Given the description of an element on the screen output the (x, y) to click on. 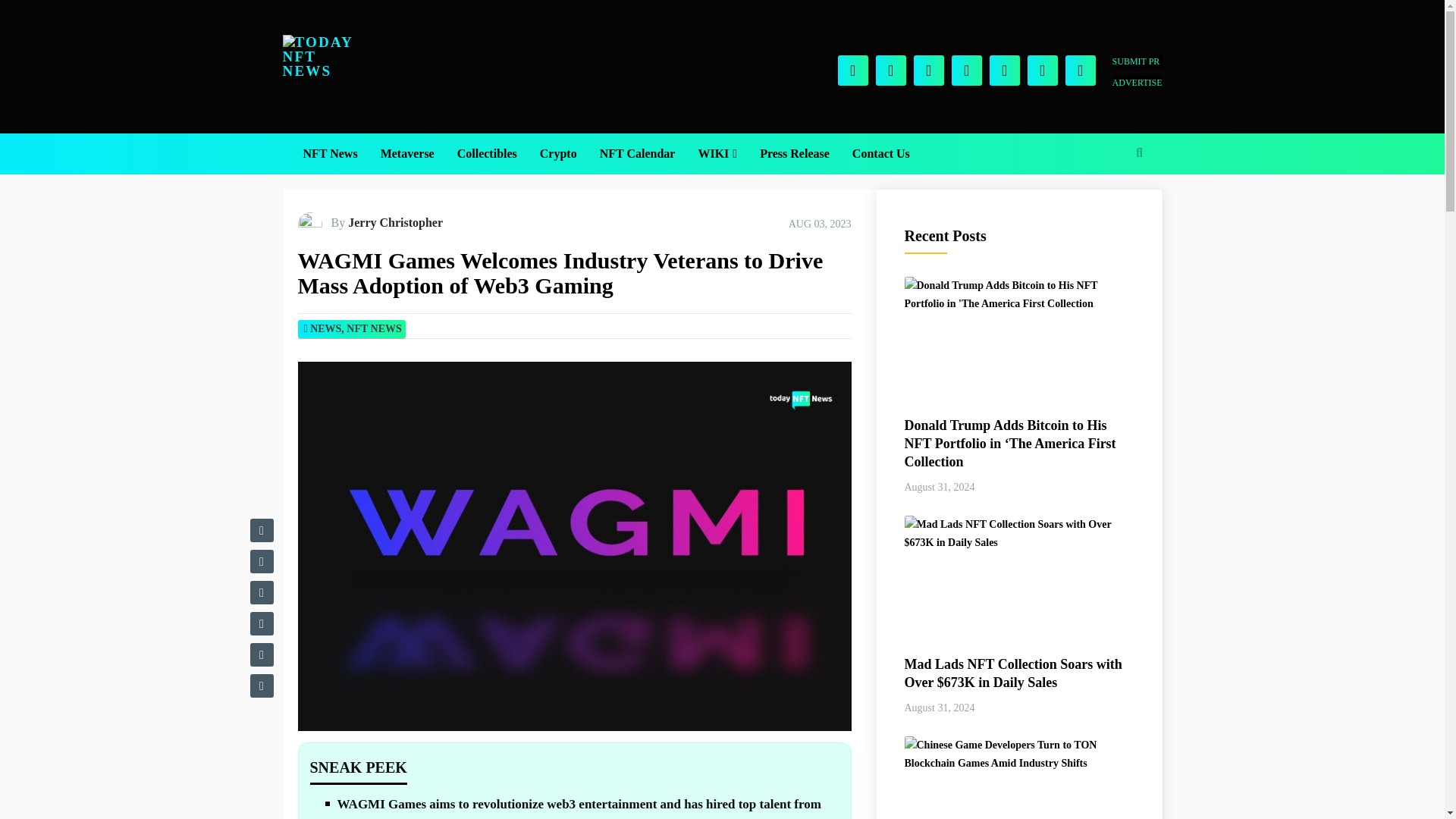
NFT NEWS (373, 328)
NFT News (329, 153)
View all posts in News (325, 328)
Contact Us (881, 153)
Collectibles (486, 153)
Crypto (558, 153)
ADVERTISE (1136, 82)
WIKI (716, 153)
SUBMIT PR (1136, 60)
Jerry Christopher (394, 222)
